Given the description of an element on the screen output the (x, y) to click on. 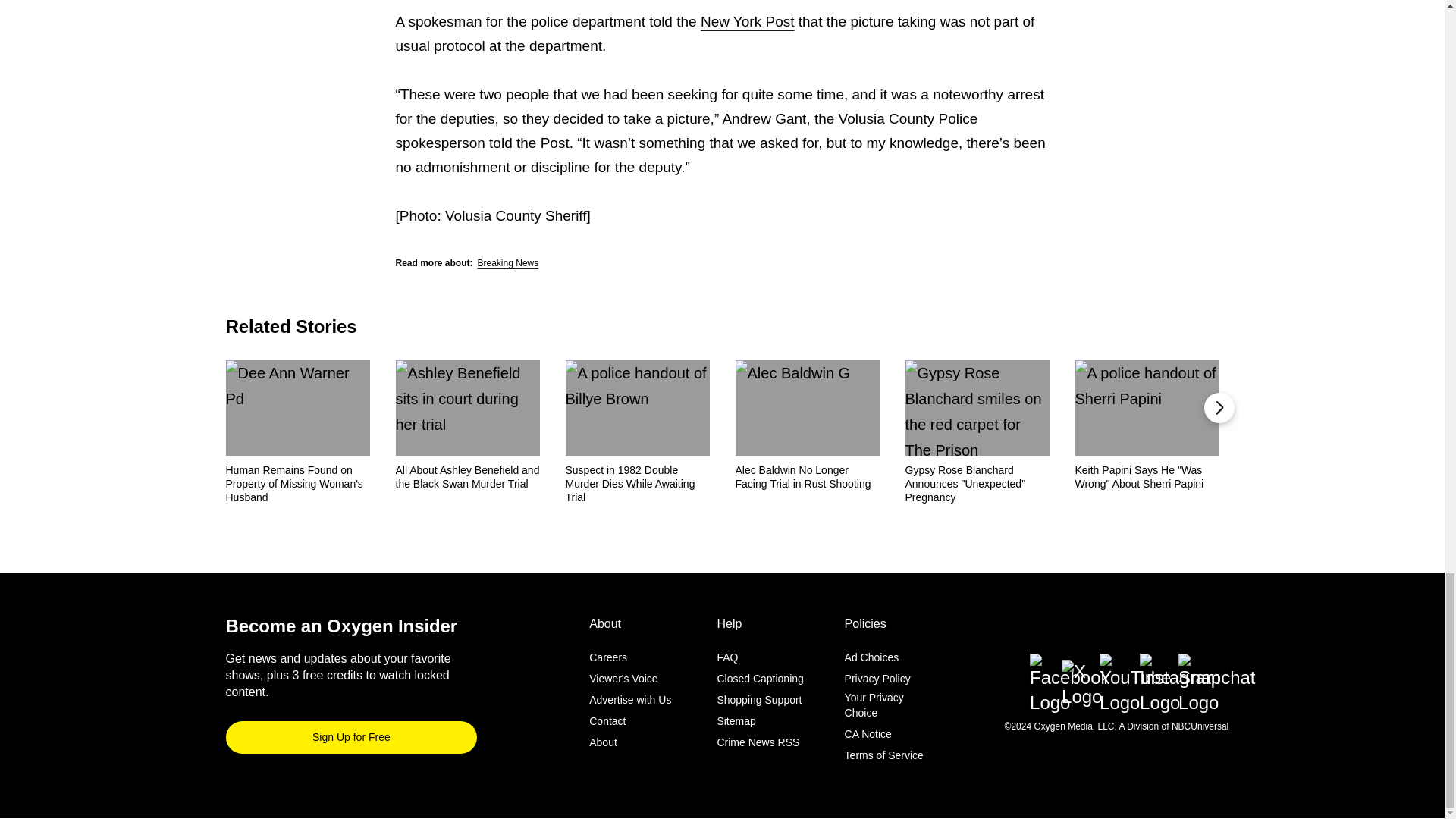
Human Remains Found on Property of Missing Woman's Husband (297, 483)
Alec Baldwin No Longer Facing Trial in Rust Shooting (807, 476)
Gypsy Rose Blanchard Announces "Unexpected" Pregnancy (977, 483)
All About Ashley Benefield and the Black Swan Murder Trial (468, 476)
New York Post (747, 21)
Suspect in 1982 Double Murder Dies While Awaiting Trial (638, 483)
Breaking News (507, 262)
Advertise with Us (630, 700)
